Given the description of an element on the screen output the (x, y) to click on. 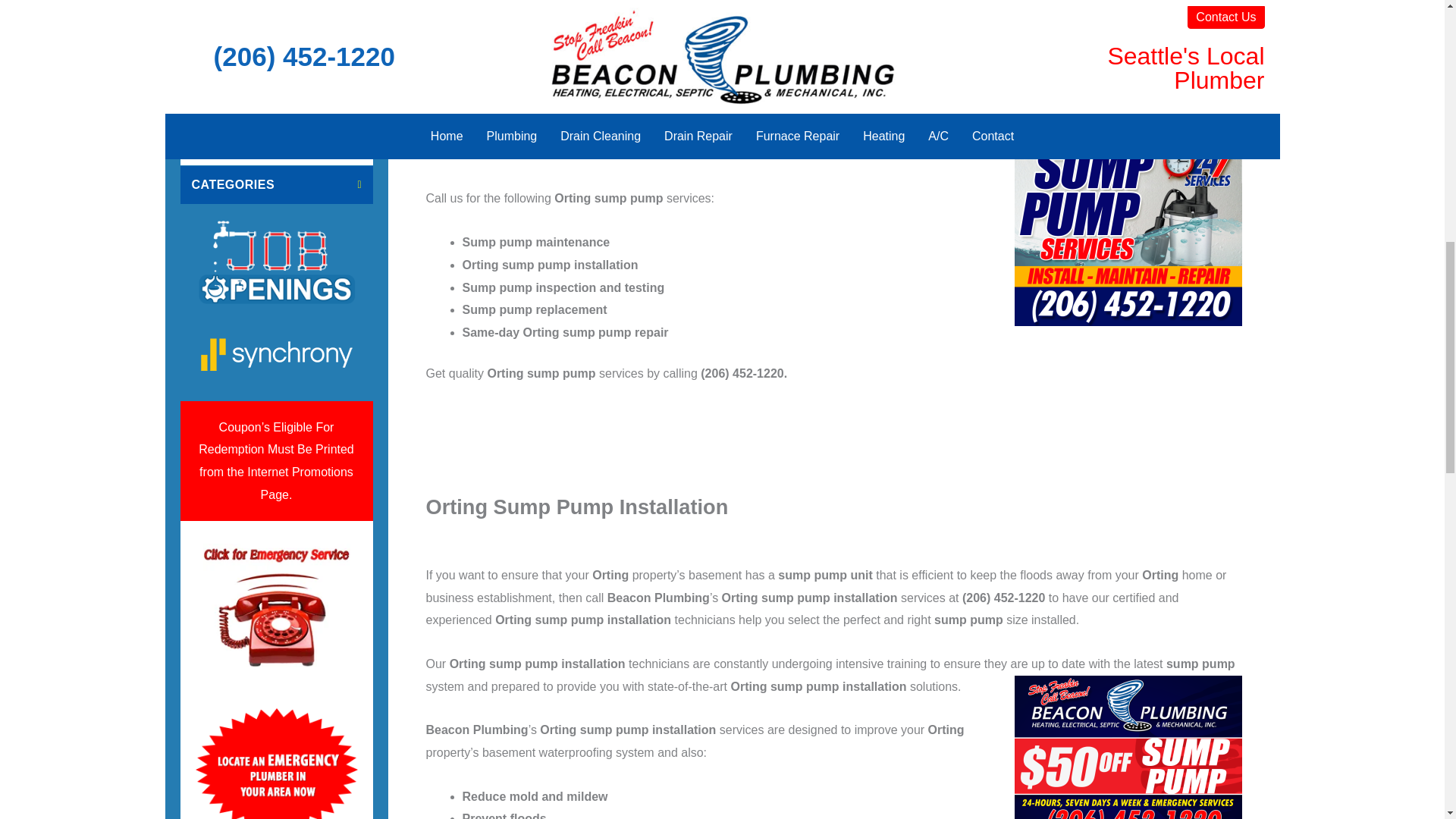
Roy Electrical Installation (275, 7)
Find-plumber-seattle.gif (276, 606)
Renton Electrical Installation (275, 31)
Roy Electrical Installation (275, 7)
Ravensdale Electrical Installation (275, 126)
Redmond Electrical Installation (275, 72)
Ravensdale Electrical Installation (275, 126)
Plumber-in-Seattle-Area.png (276, 763)
Renton Electrical Installation (275, 31)
Redmond Electrical Installation (275, 72)
